Given the description of an element on the screen output the (x, y) to click on. 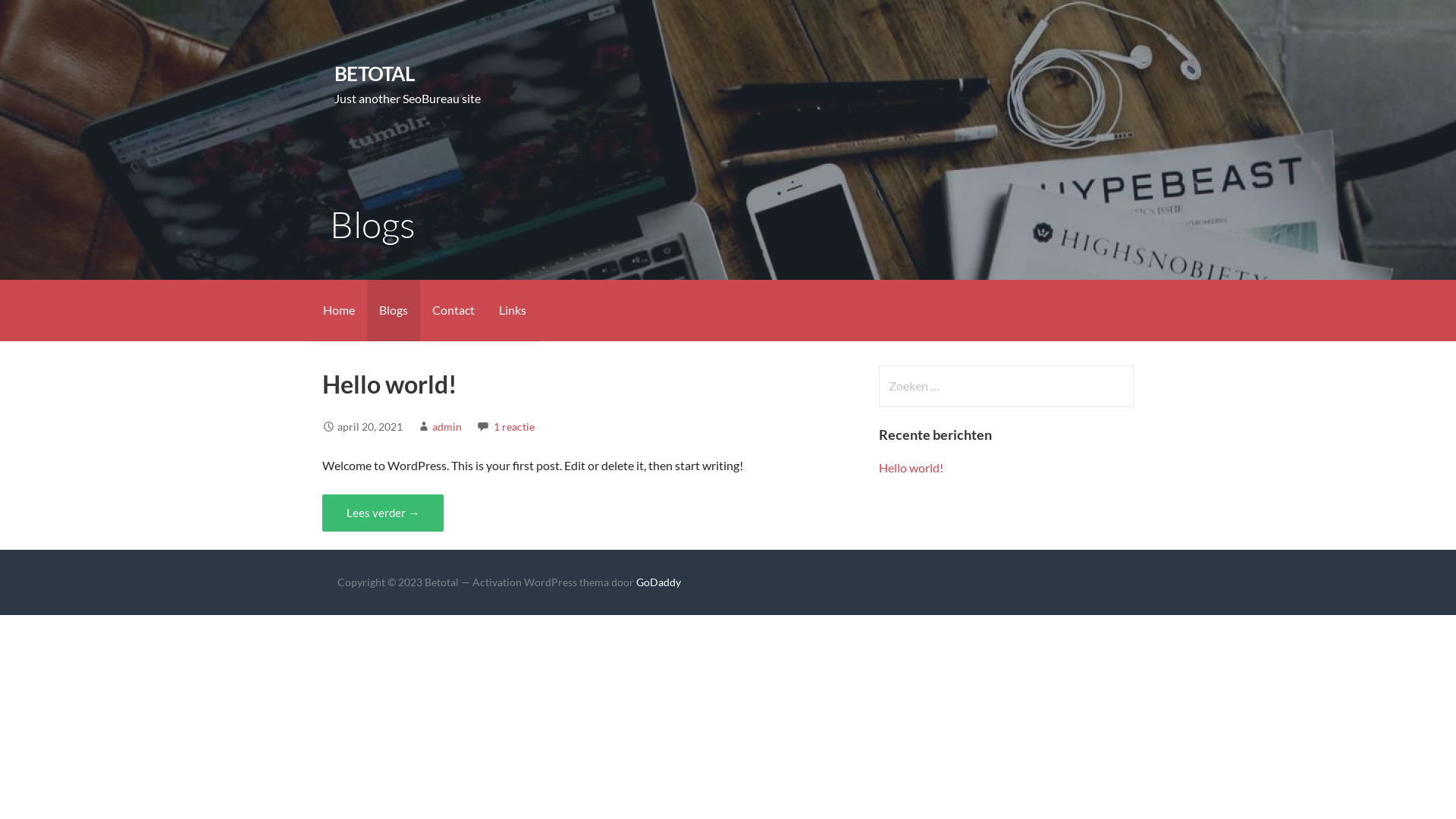
Home Element type: text (338, 310)
admin Element type: text (446, 426)
Hello world! Element type: text (910, 467)
Blogs Element type: text (393, 310)
1 reactie Element type: text (513, 426)
GoDaddy Element type: text (658, 581)
Links Element type: text (512, 310)
Contact Element type: text (453, 310)
Zoeken Element type: text (42, 18)
Hello world! Element type: text (389, 383)
BETOTAL Element type: text (374, 73)
